Given the description of an element on the screen output the (x, y) to click on. 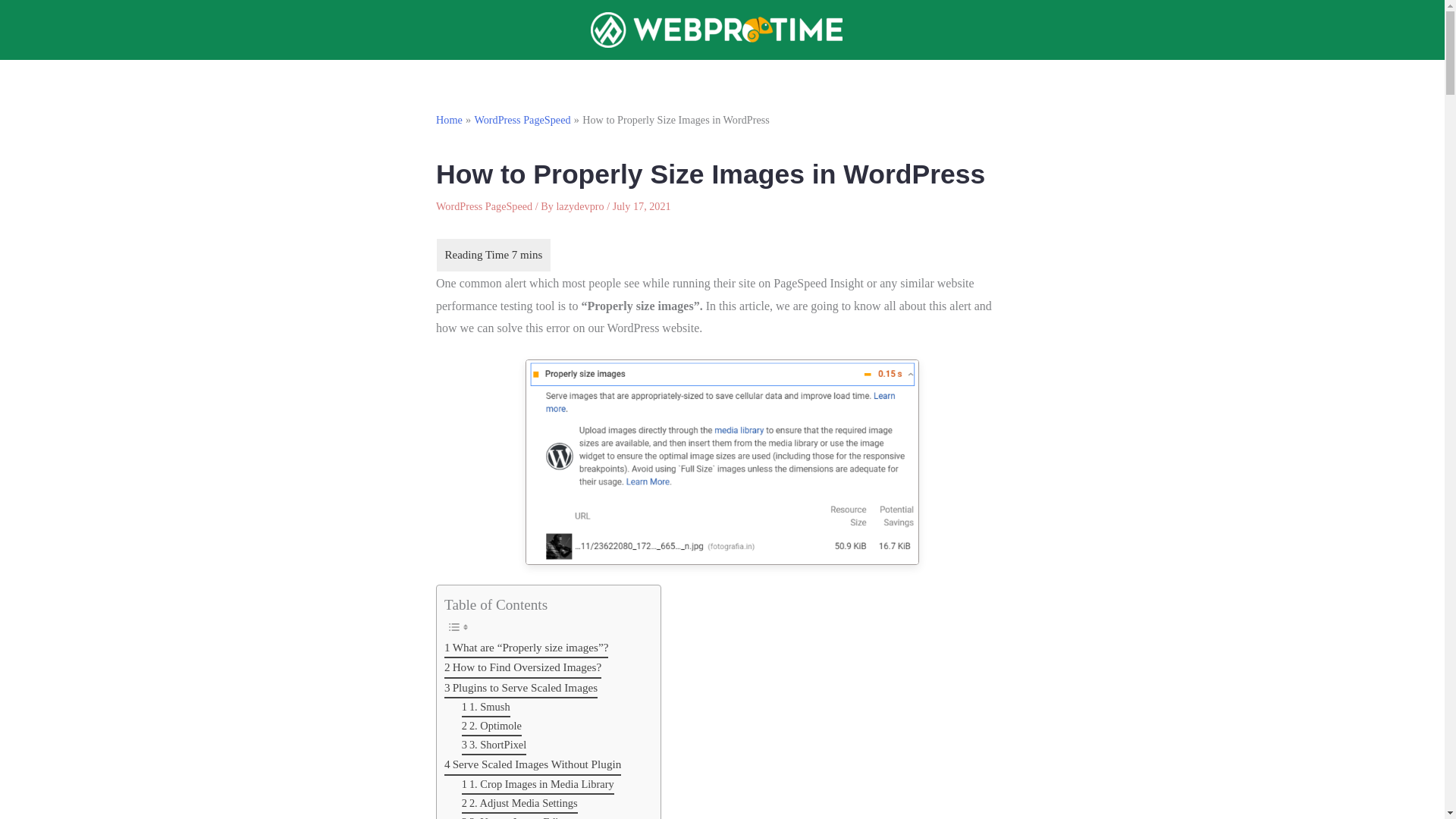
Serve Scaled Images Without Plugin (532, 764)
Home (449, 119)
View all posts by lazydevpro (581, 205)
TUTORIALS (885, 78)
3. ShortPixel (494, 745)
Serve Scaled Images Without Plugin (532, 764)
2. Adjust Media Settings (519, 804)
1. Smush (486, 707)
lazydevpro (581, 205)
2. Adjust Media Settings (519, 804)
OPTIMIZE PAGESPEED (649, 78)
2. Optimole (491, 726)
1. Smush (486, 707)
DEALS (962, 78)
2. Optimole (491, 726)
